Given the description of an element on the screen output the (x, y) to click on. 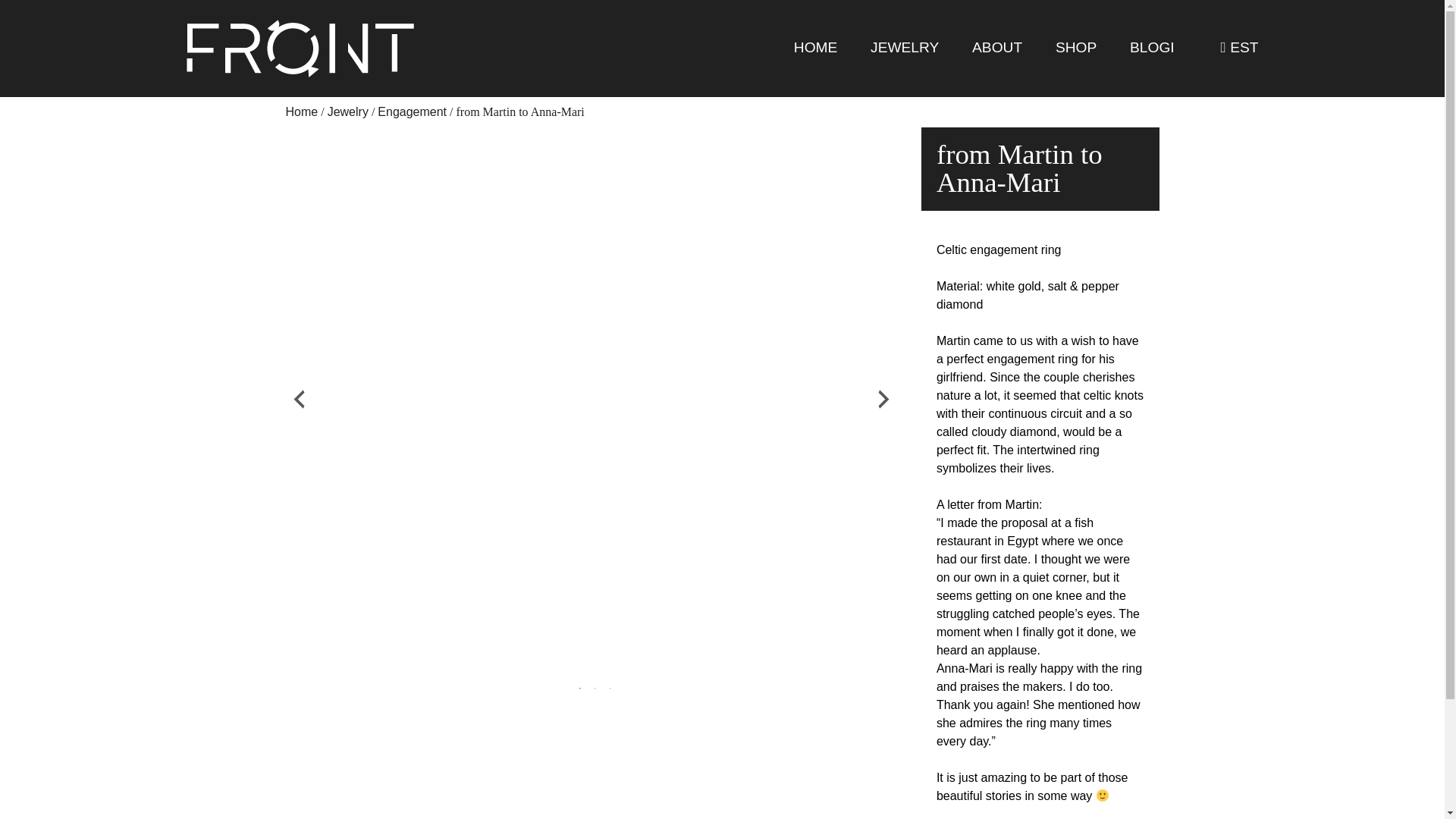
ABOUT (997, 48)
SHOP (1075, 48)
EST (1239, 48)
Home (301, 111)
from Martin to Anna-Mari (521, 111)
Home (301, 111)
Engagement (411, 111)
BLOGI (1151, 48)
Engagement (411, 111)
1 (576, 688)
